Given the description of an element on the screen output the (x, y) to click on. 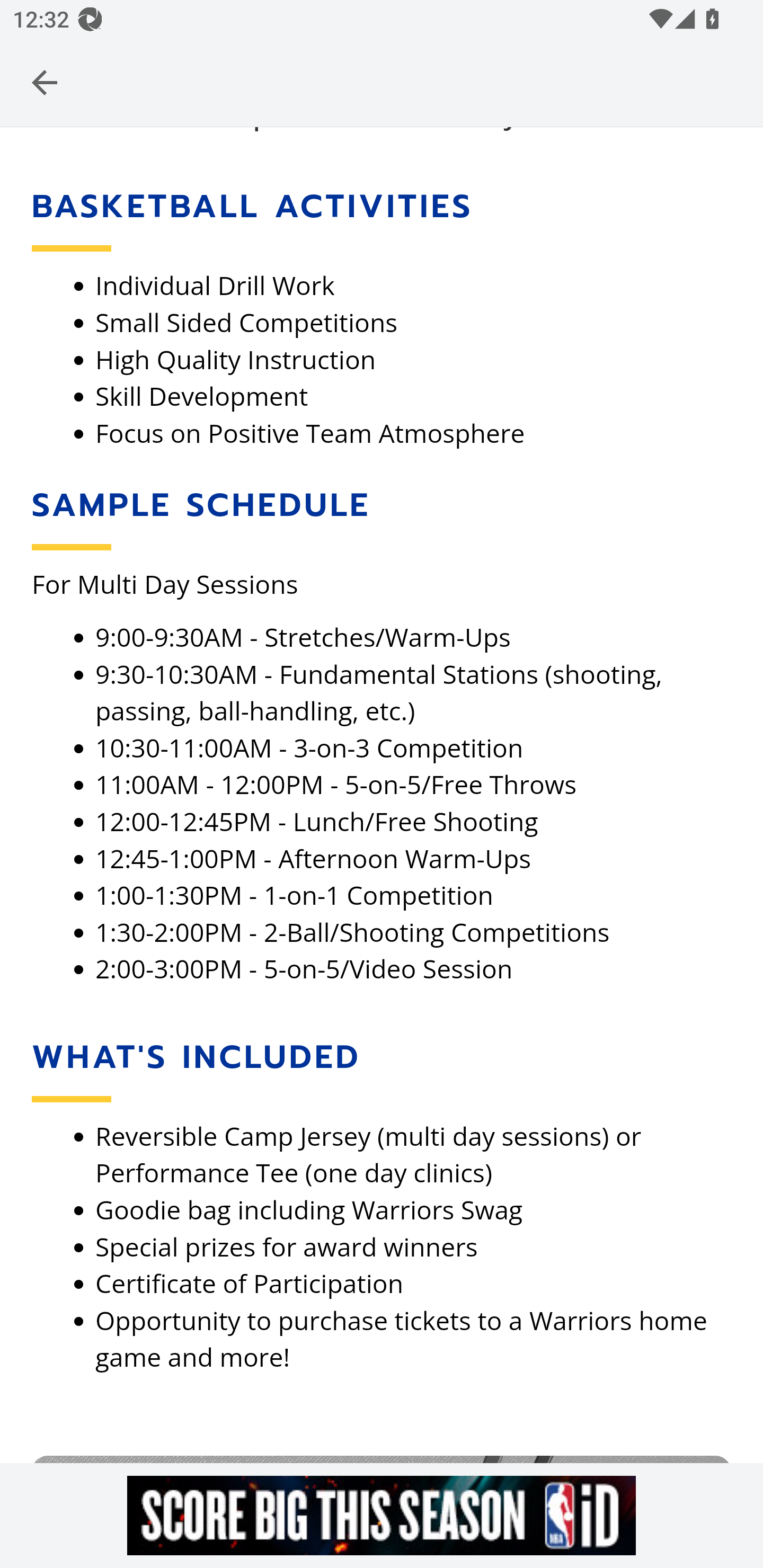
Navigate up (44, 82)
